Given the description of an element on the screen output the (x, y) to click on. 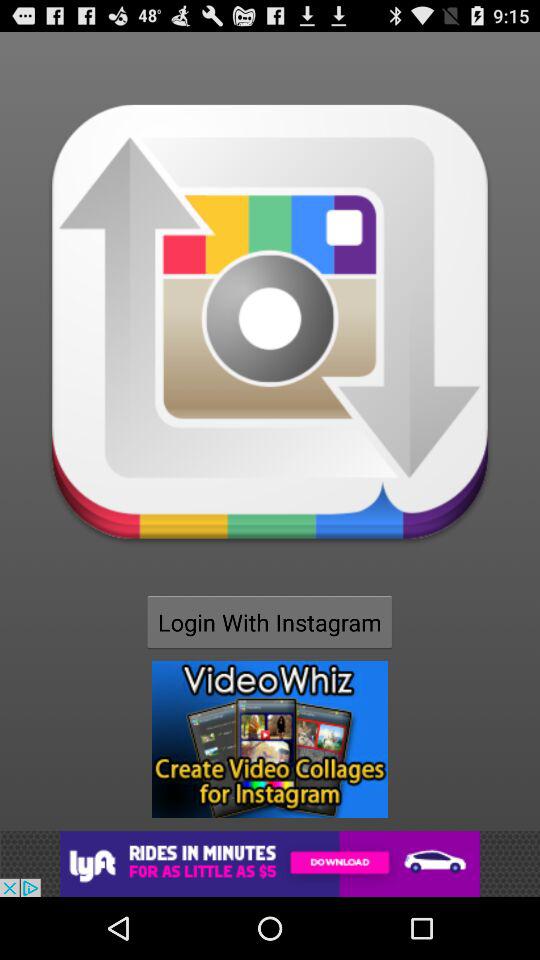
navigate to advertisement site for lyft (270, 864)
